Given the description of an element on the screen output the (x, y) to click on. 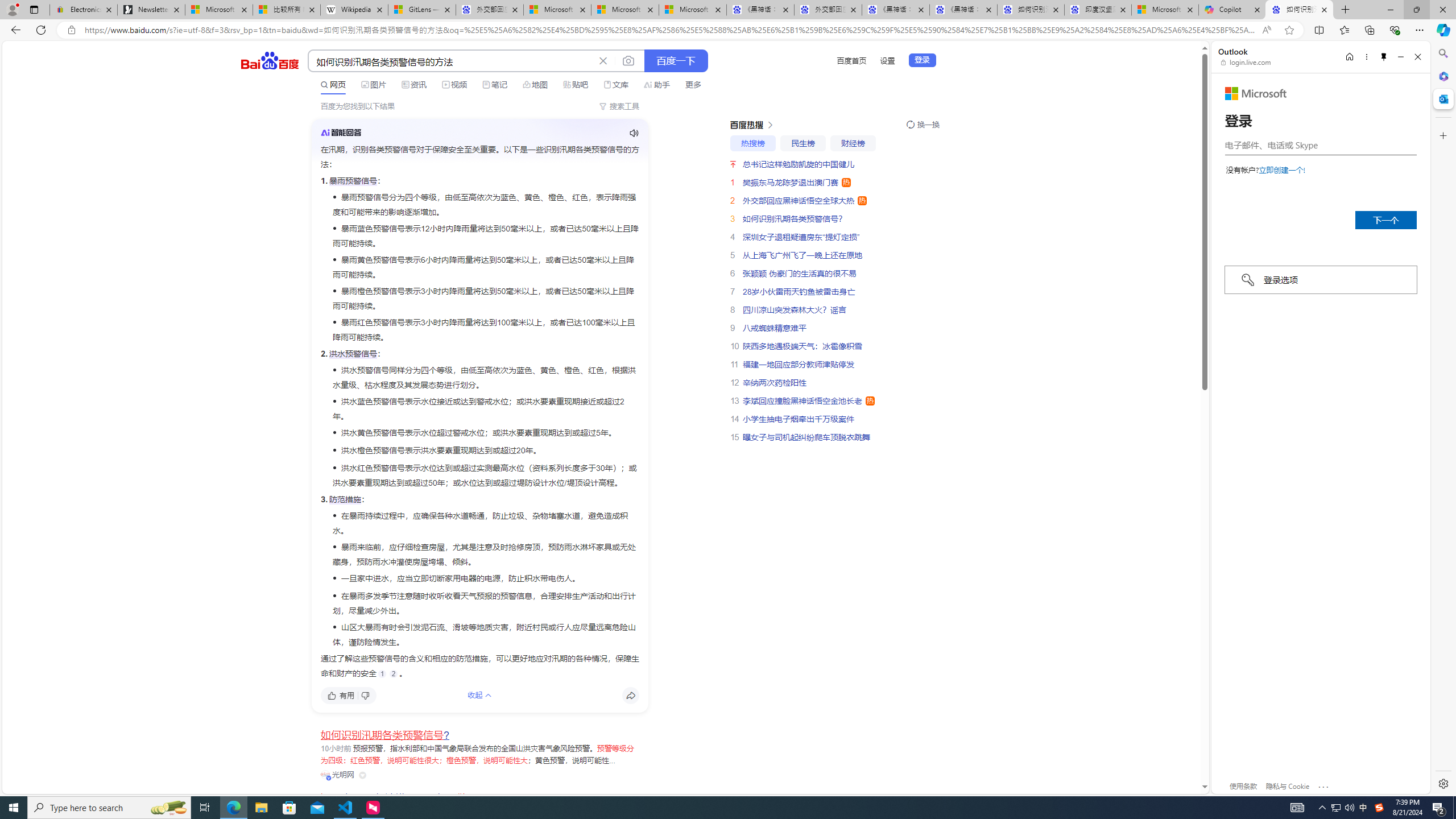
Class: siteLink_9TPP3 (336, 773)
Class: img-light_7jMUg (340, 131)
